Given the description of an element on the screen output the (x, y) to click on. 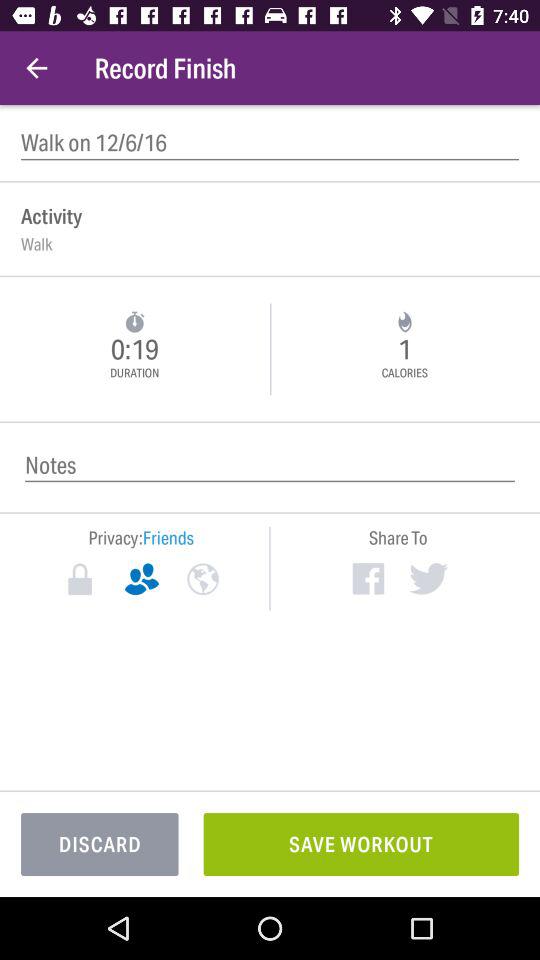
click the icon to the right of the discard (361, 844)
